Given the description of an element on the screen output the (x, y) to click on. 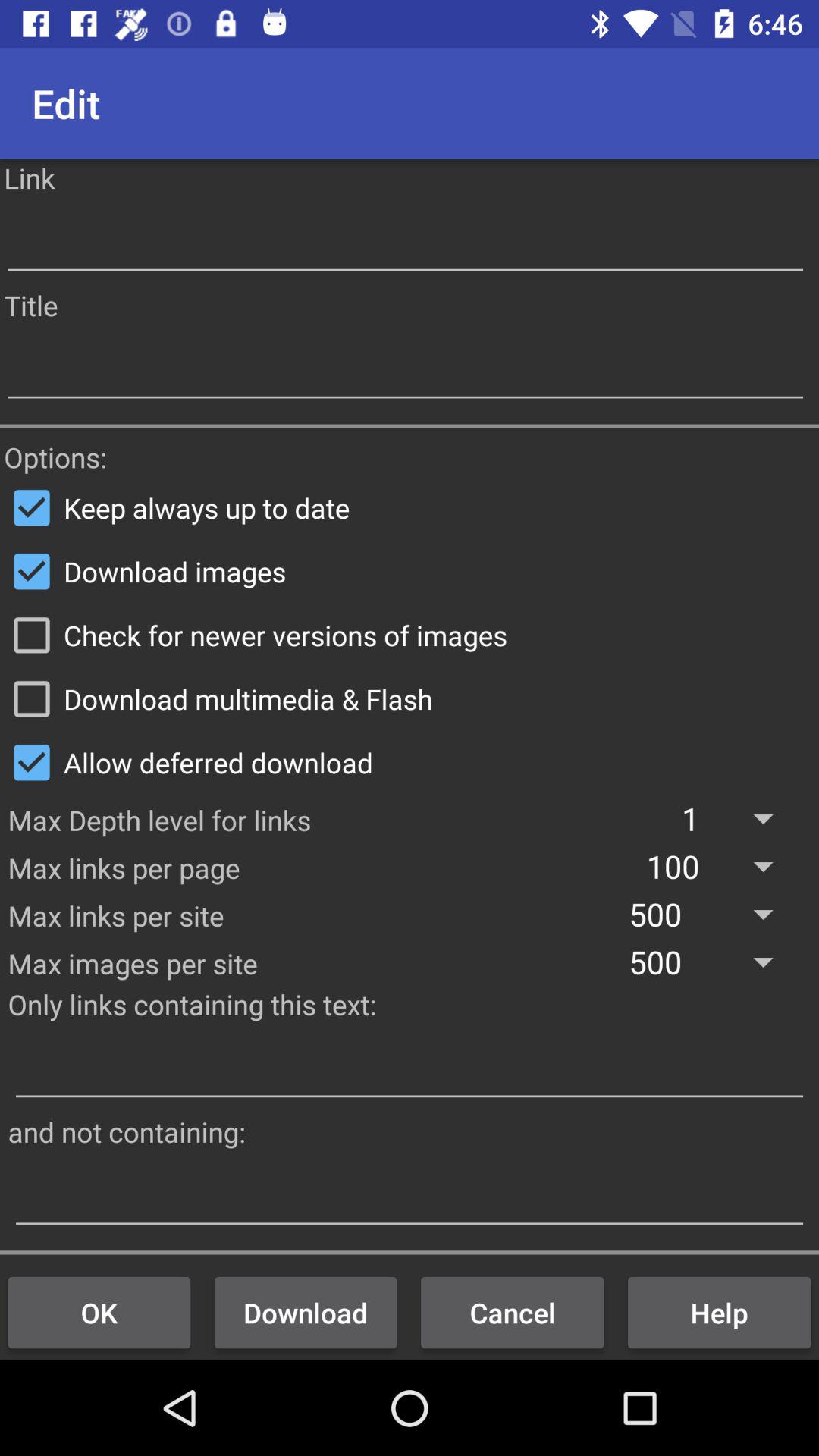
text bar (409, 1195)
